Given the description of an element on the screen output the (x, y) to click on. 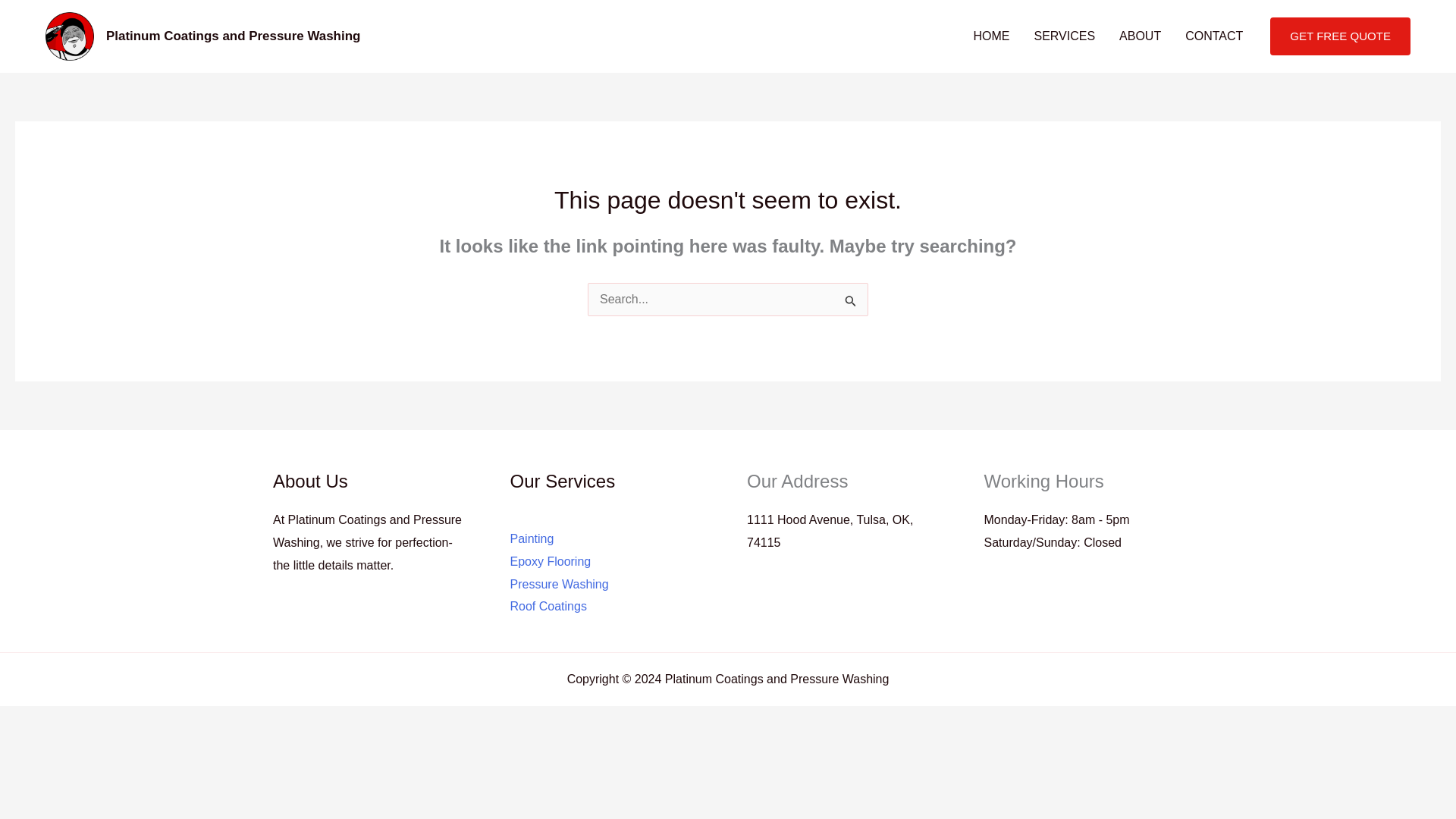
CONTACT (1214, 36)
Painting (531, 538)
ABOUT (1139, 36)
GET FREE QUOTE (1339, 35)
Epoxy Flooring (550, 561)
SERVICES (1064, 36)
Platinum Coatings and Pressure Washing (232, 35)
Roof Coatings (547, 605)
Pressure Washing (558, 584)
